Given the description of an element on the screen output the (x, y) to click on. 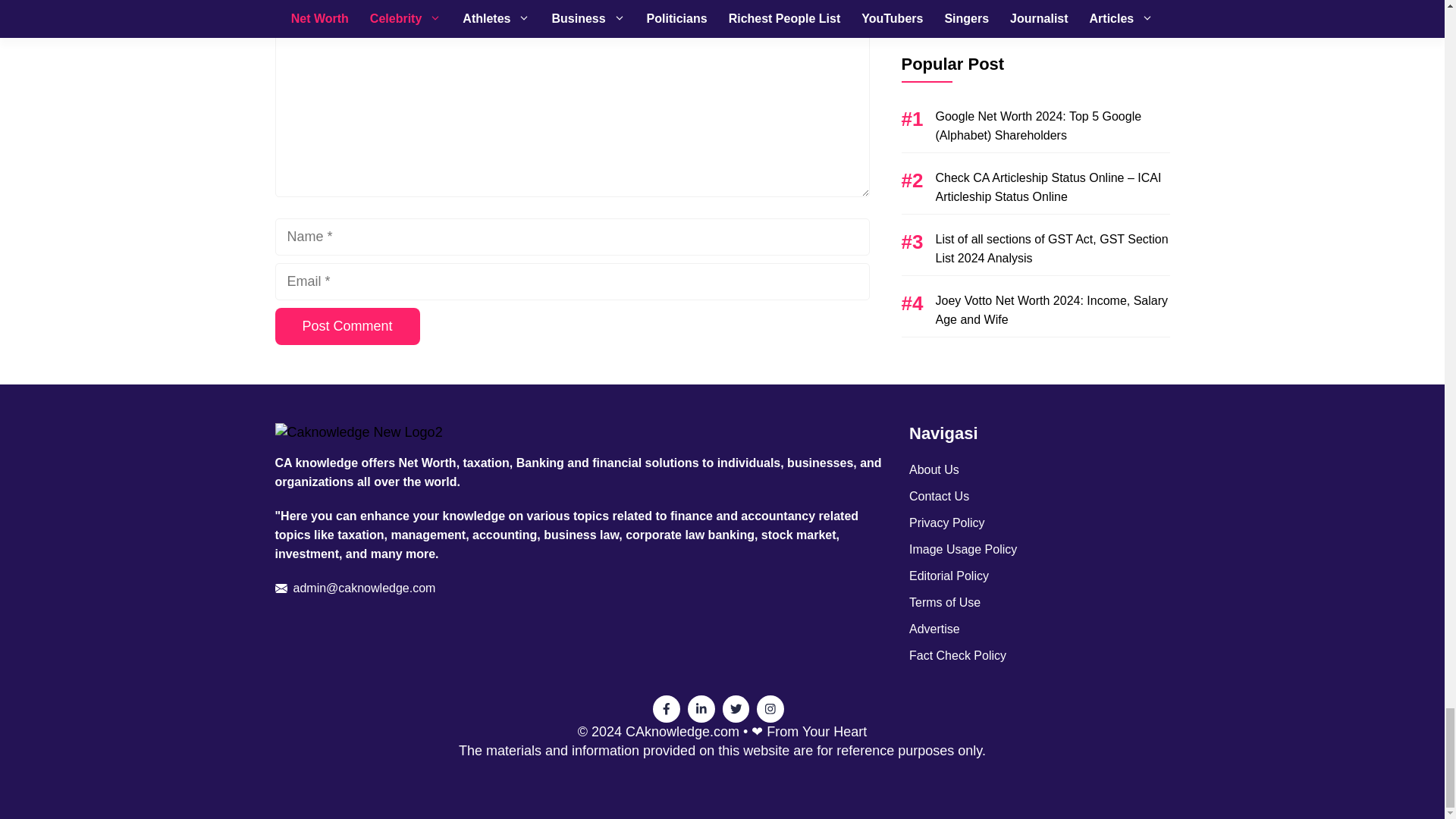
Post Comment (347, 325)
